Given the description of an element on the screen output the (x, y) to click on. 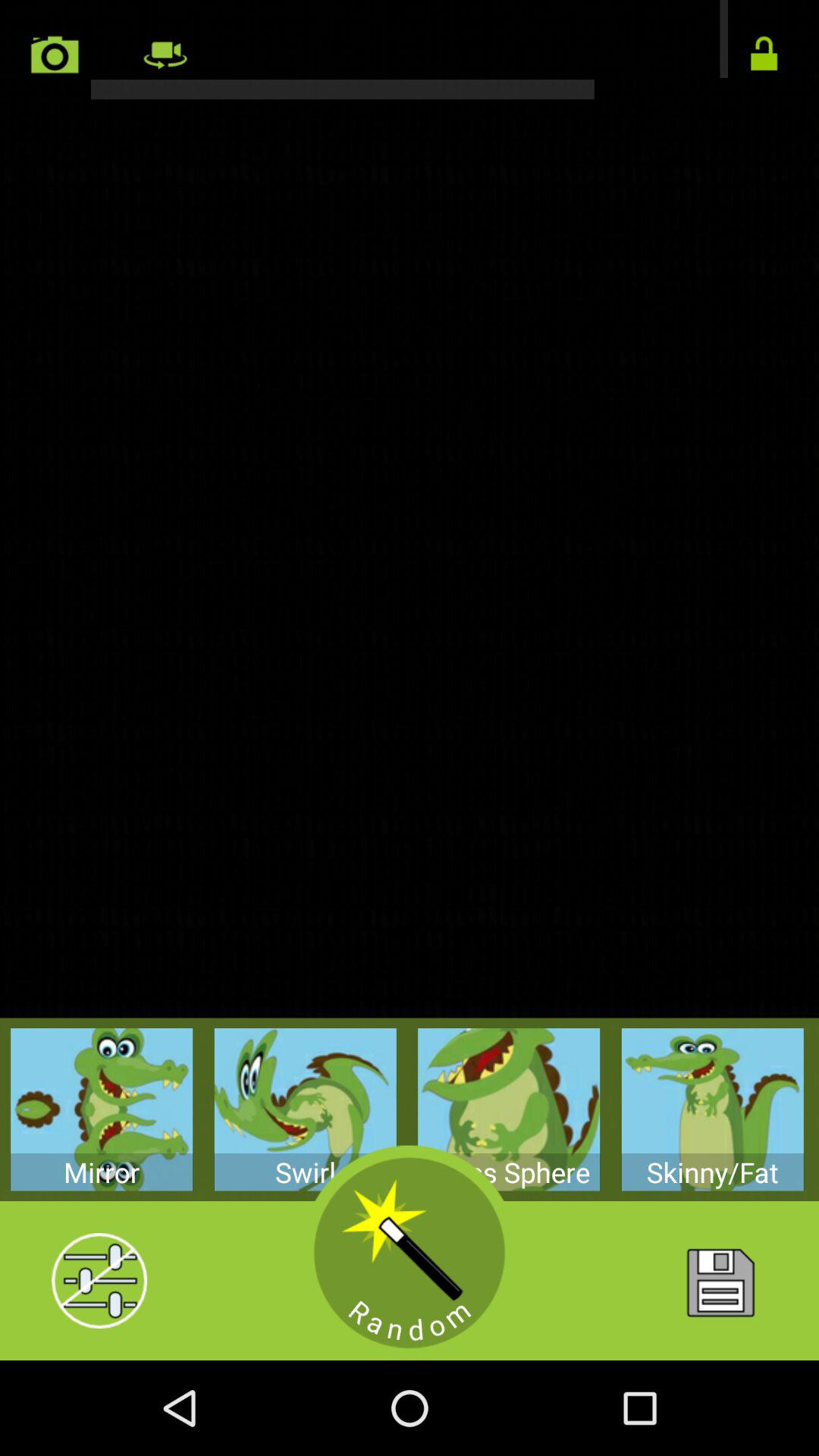
toggle autoplay option (764, 54)
